Given the description of an element on the screen output the (x, y) to click on. 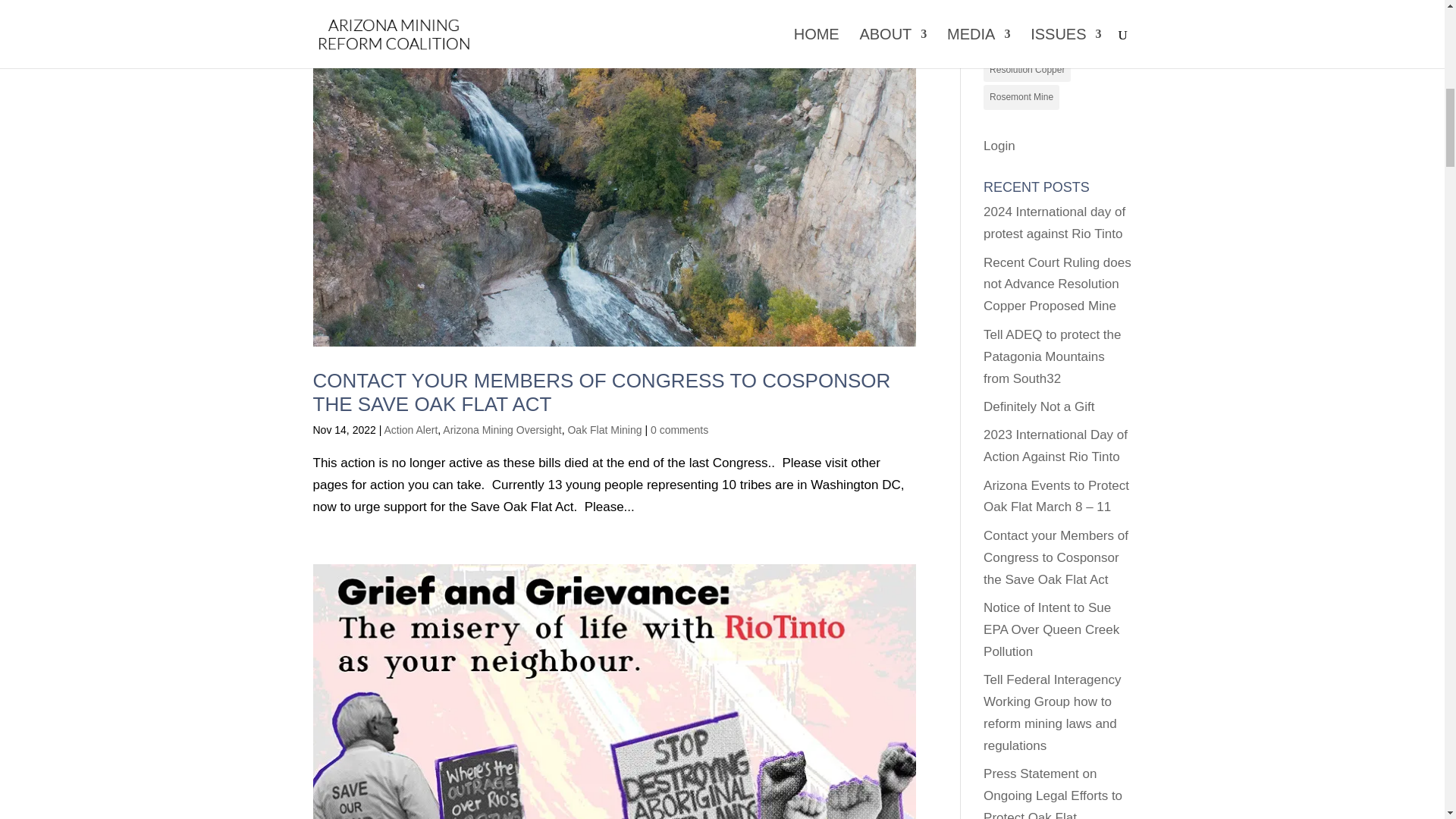
Oak Flat Mining (604, 429)
0 comments (678, 429)
Action Alert (411, 429)
Arizona Mining Oversight (501, 429)
